Given the description of an element on the screen output the (x, y) to click on. 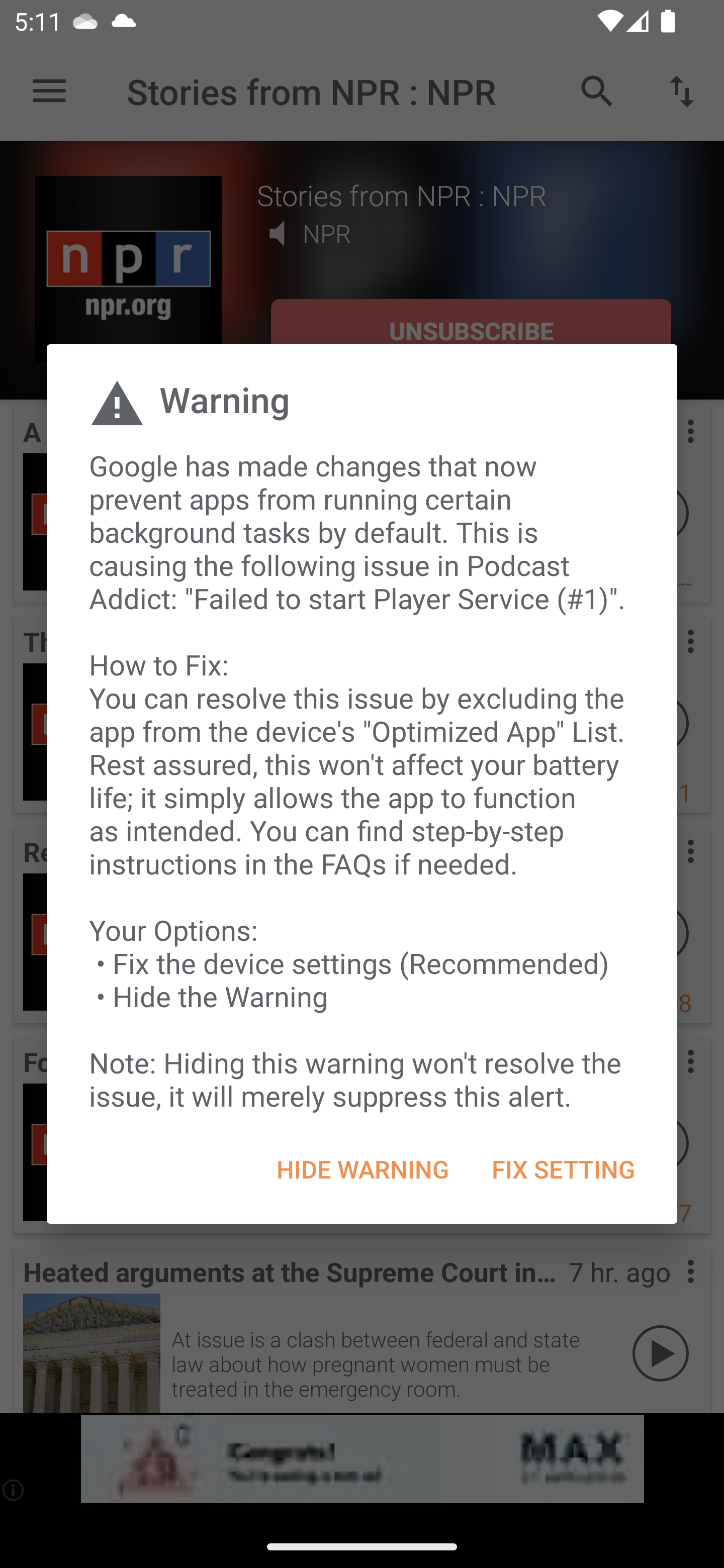
HIDE WARNING (362, 1168)
FIX SETTING (562, 1168)
